Given the description of an element on the screen output the (x, y) to click on. 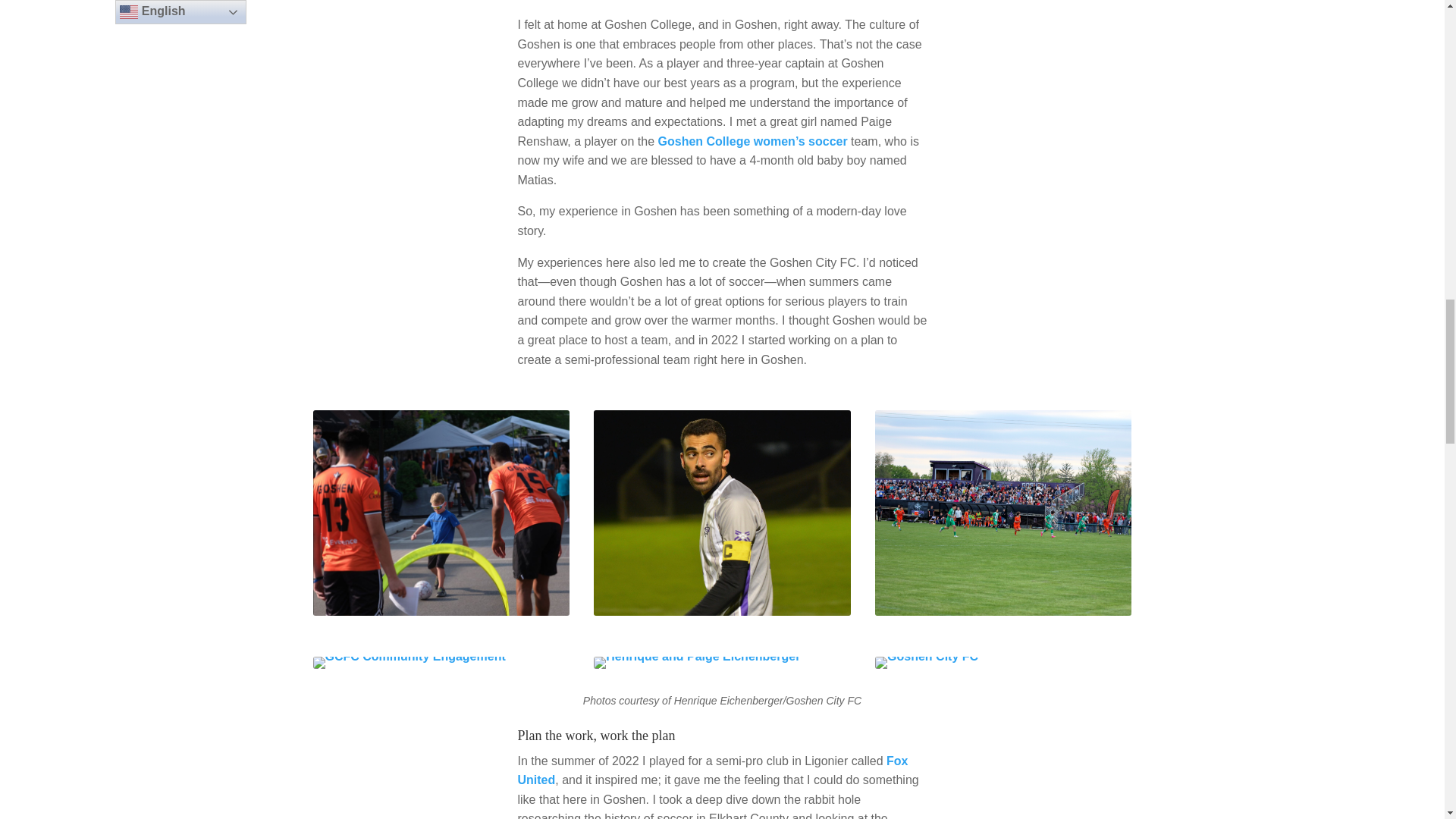
dd2b06bd-945d-4854-bf09-83647f50dfca (722, 512)
Goshen City FC (926, 664)
Henrique and Paige Eichenberger (696, 664)
Goshen City FC (441, 611)
a10d8e52-0ddb-4bed-986a-632f5da40d3e (1003, 512)
26f27609-650c-4a34-a990-c84efb2df256 (409, 662)
8b87022f-20d9-469c-9d4f-1c99df3423e8 (441, 512)
Henrique Eichenberger (722, 611)
80d3a8fd-258d-48dc-a79b-581fb3e973fc (696, 662)
GCFC Community Engagement (409, 664)
Goshen City FC at the Goshen College Soccer Complex (1003, 611)
